Given the description of an element on the screen output the (x, y) to click on. 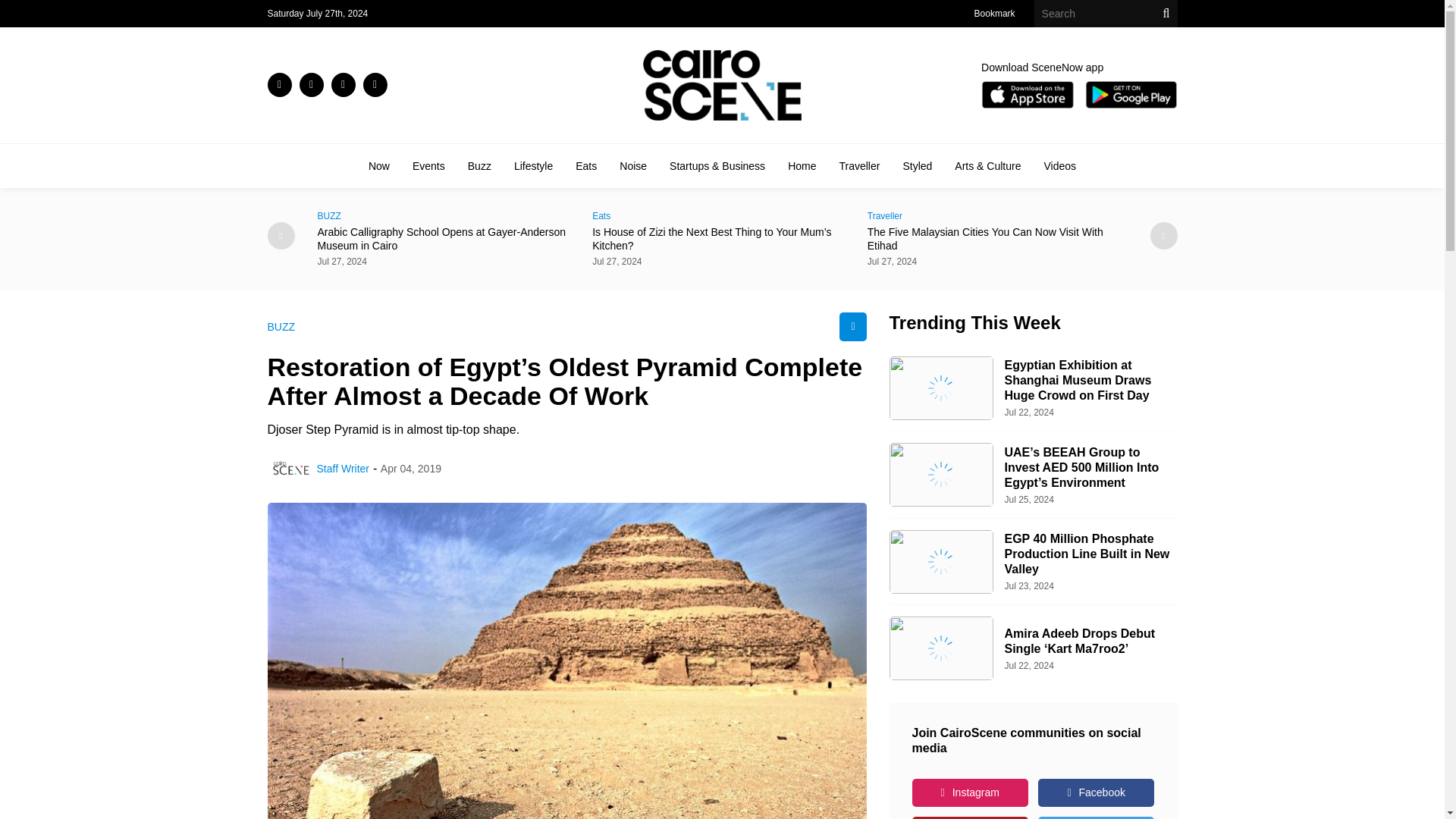
Events (428, 165)
Eats (585, 165)
Now (379, 165)
Styled (916, 165)
BUZZ (446, 215)
Buzz (479, 165)
Noise (633, 165)
Videos (1059, 165)
Traveller (996, 215)
Home (801, 165)
Traveller (858, 165)
Bookmark (994, 13)
The Five Malaysian Cities You Can Now Visit With Etihad (996, 238)
Lifestyle (533, 165)
